Given the description of an element on the screen output the (x, y) to click on. 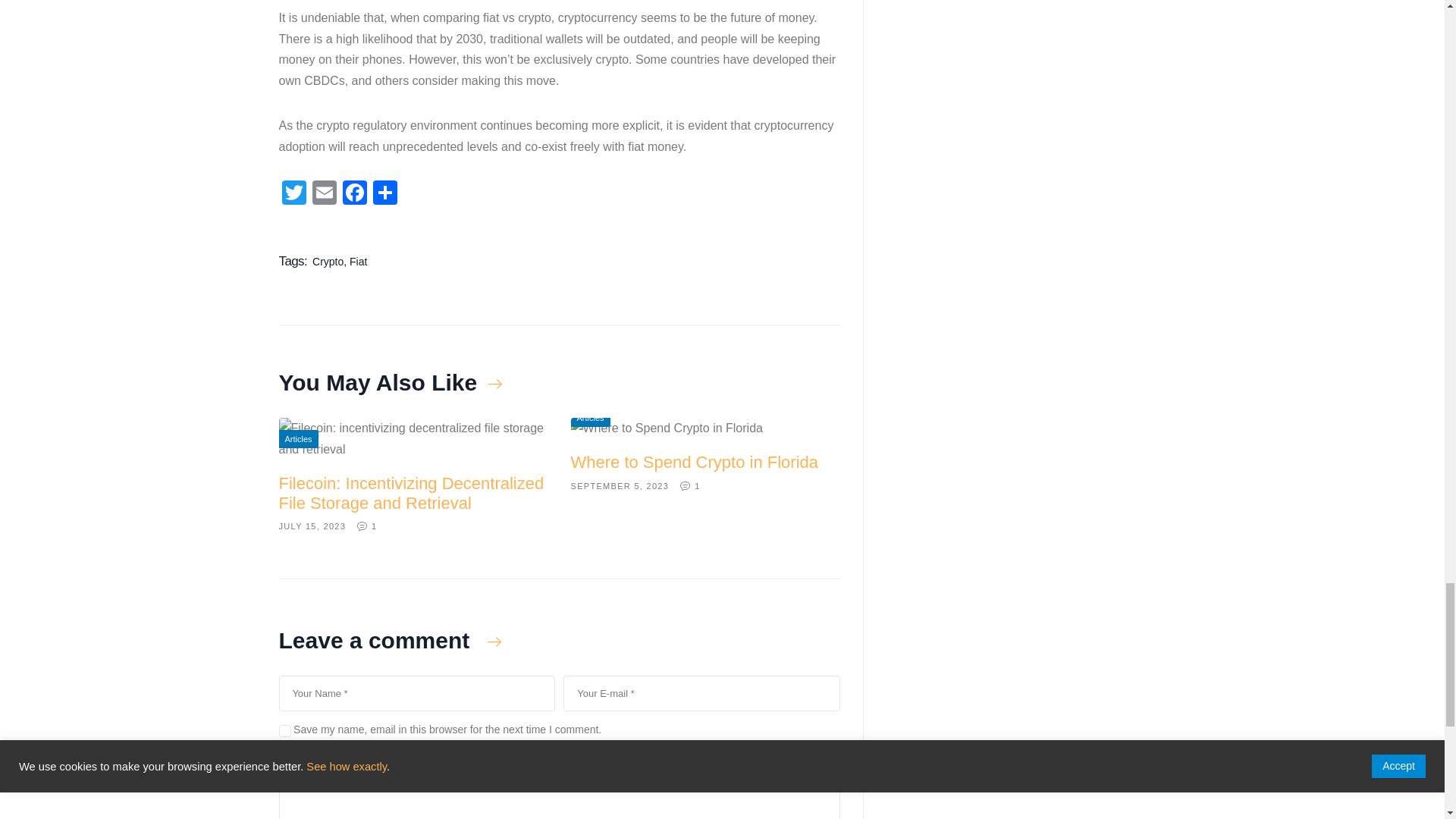
View all posts in Articles (590, 417)
Facebook (354, 194)
Twitter (293, 194)
Email (323, 194)
View all posts in Articles (298, 438)
